Given the description of an element on the screen output the (x, y) to click on. 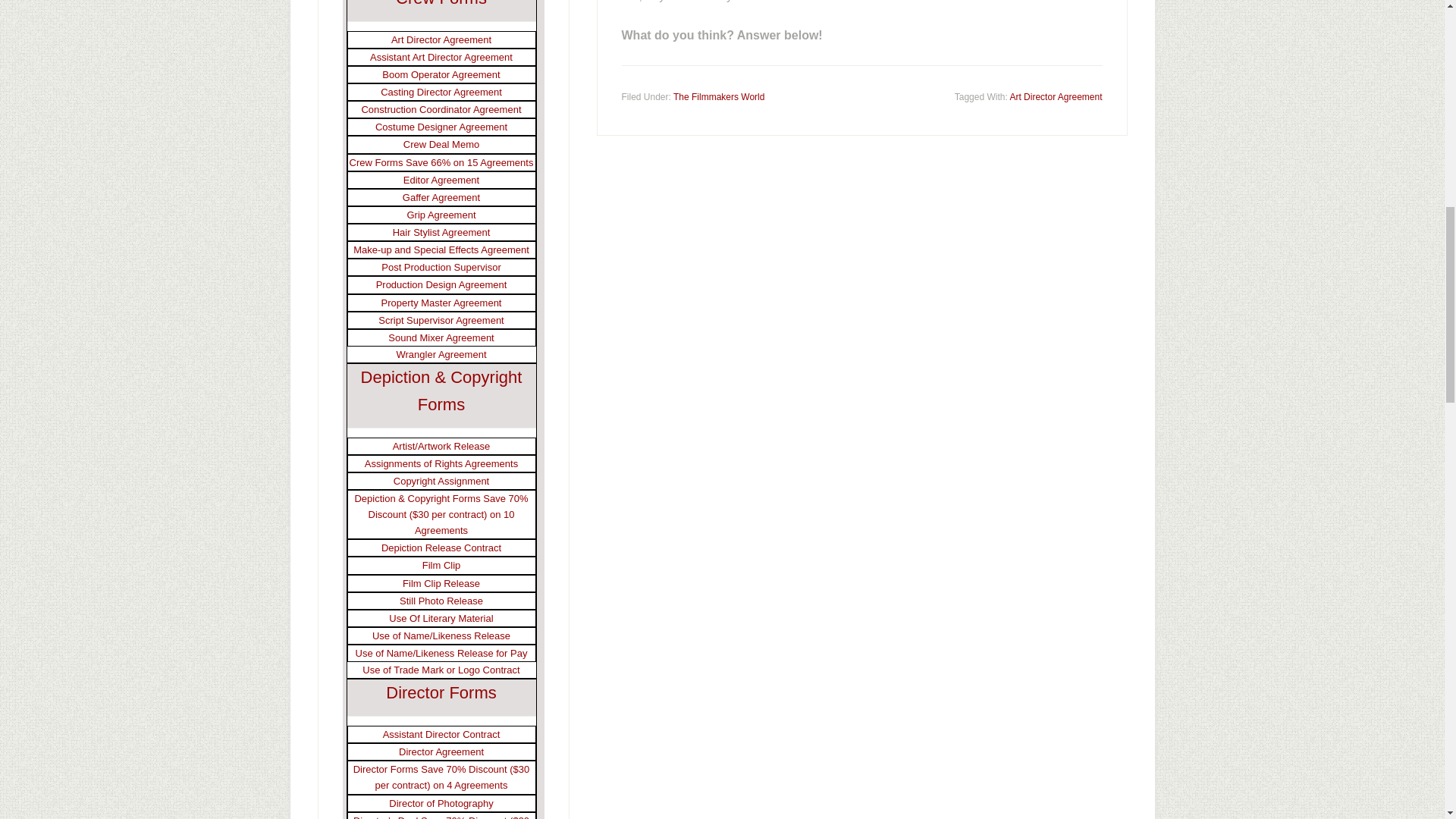
The Filmmakers World (718, 96)
Construction Coordinator Agreement (441, 109)
Art Director Agreement (1055, 96)
Boom Operator Agreement (440, 74)
Crew Forms (441, 3)
Editor Agreement (441, 179)
Crew Deal Memo (441, 143)
Assistant Art Director Agreement (440, 57)
Art Director Agreement (441, 39)
Costume Designer Agreement (440, 126)
